Given the description of an element on the screen output the (x, y) to click on. 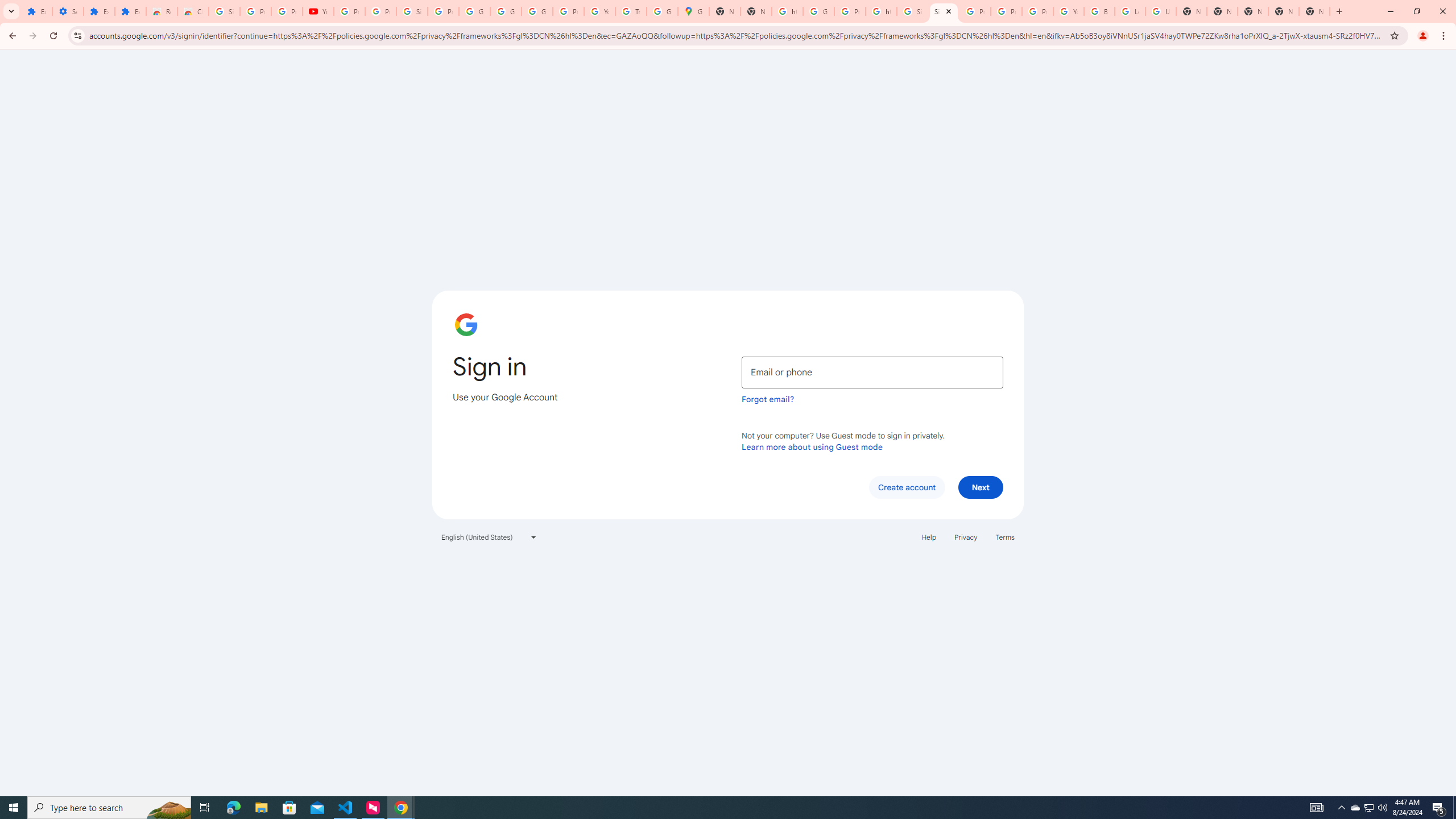
Reviews: Helix Fruit Jump Arcade Game (161, 11)
English (United States) (489, 536)
YouTube (599, 11)
Extensions (98, 11)
Google Account (474, 11)
Learn more about using Guest mode (812, 446)
Google Maps (693, 11)
Privacy Help Center - Policies Help (1005, 11)
Sign in - Google Accounts (912, 11)
